Given the description of an element on the screen output the (x, y) to click on. 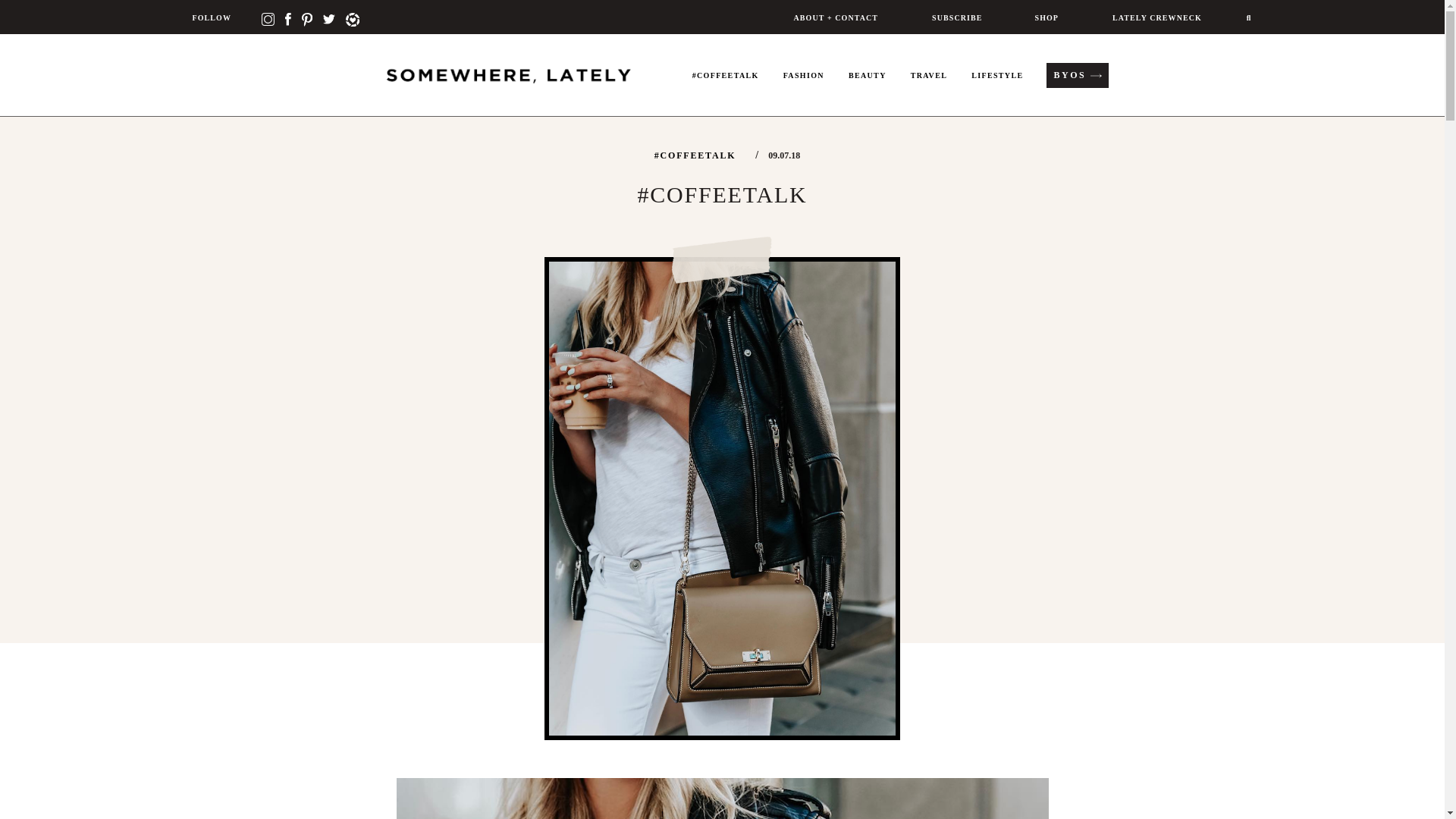
LATELY CREWNECK (1155, 17)
SUBSCRIBE (954, 17)
FASHION (803, 87)
BEAUTY (867, 87)
SHOP (1044, 17)
ENTER (938, 222)
TRAVEL (928, 87)
